Given the description of an element on the screen output the (x, y) to click on. 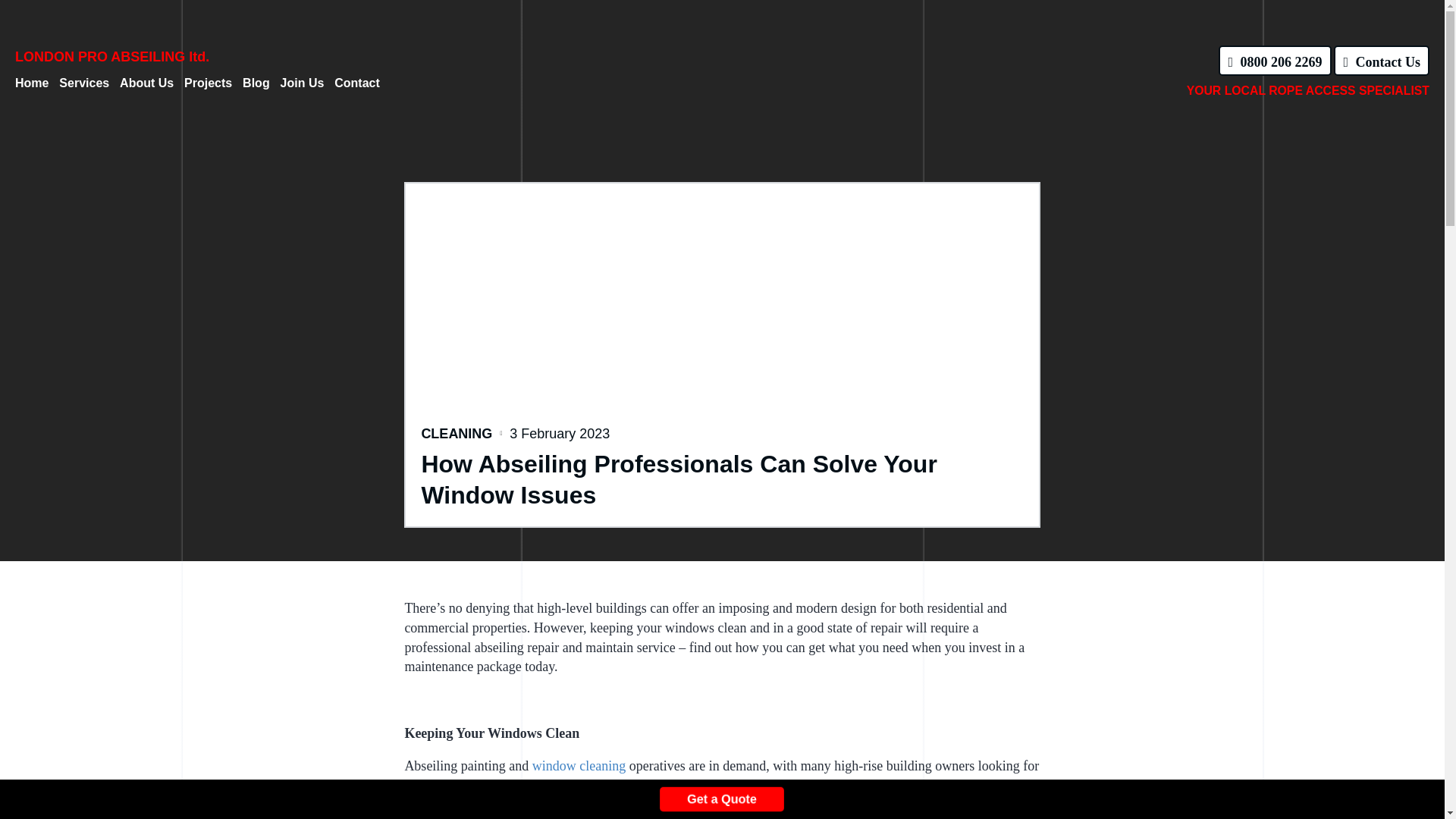
Services (84, 83)
window cleaning (579, 765)
0800 206 2269 (1274, 60)
About Us (146, 83)
Projects (207, 83)
Join Us (302, 83)
Contact Us (1381, 60)
Home (31, 83)
Contact (357, 83)
Blog (256, 83)
